Given the description of an element on the screen output the (x, y) to click on. 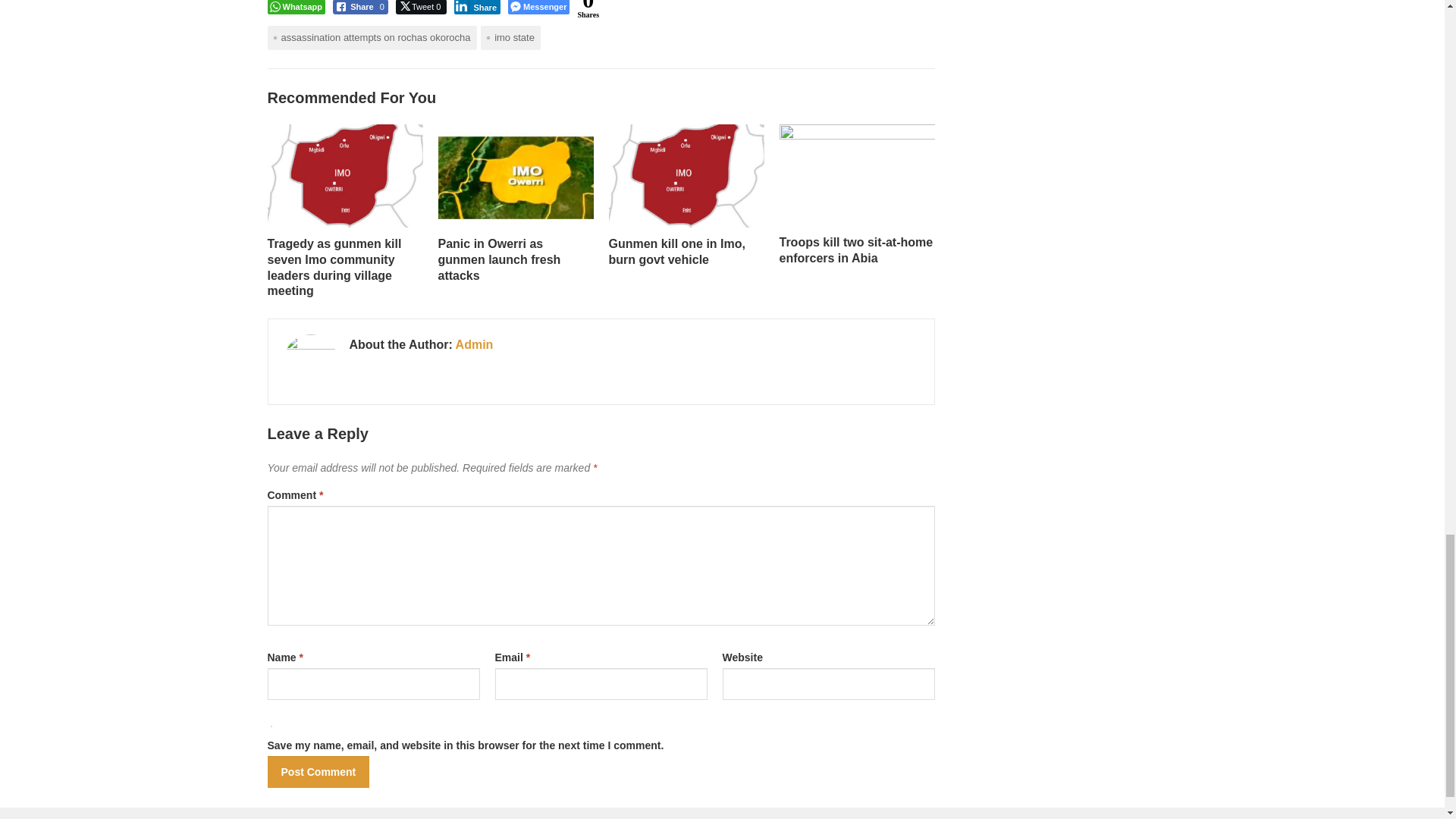
Whatsapp (295, 7)
Share 0 (360, 7)
Tweet 0 (421, 7)
Post Comment (317, 771)
